Given the description of an element on the screen output the (x, y) to click on. 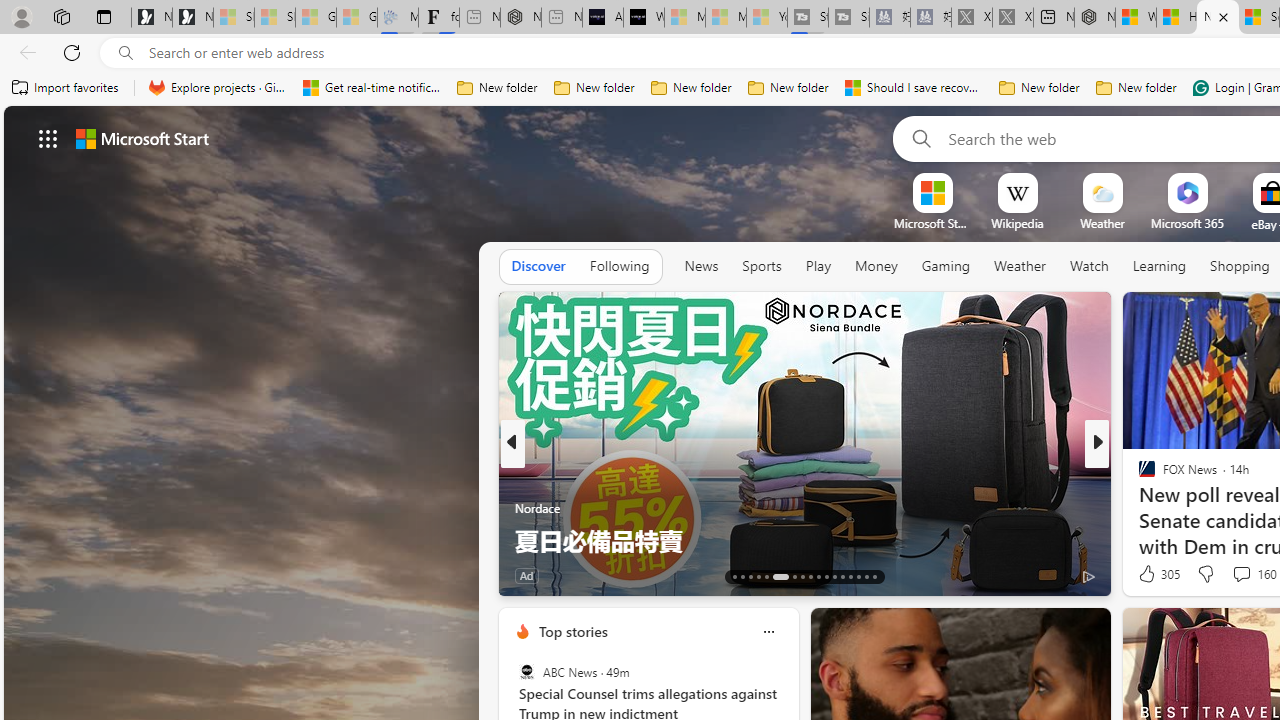
Wikipedia (1017, 223)
View comments 48 Comment (11, 575)
AutomationID: tab-42 (865, 576)
Ad (1142, 575)
Class: icon-img (768, 632)
View comments 1k Comment (1228, 575)
More options (768, 631)
Streaming Coverage | T3 - Sleeping (808, 17)
386 Like (1151, 574)
Forge of Empires (1175, 507)
News (701, 267)
Discover (538, 265)
